Given the description of an element on the screen output the (x, y) to click on. 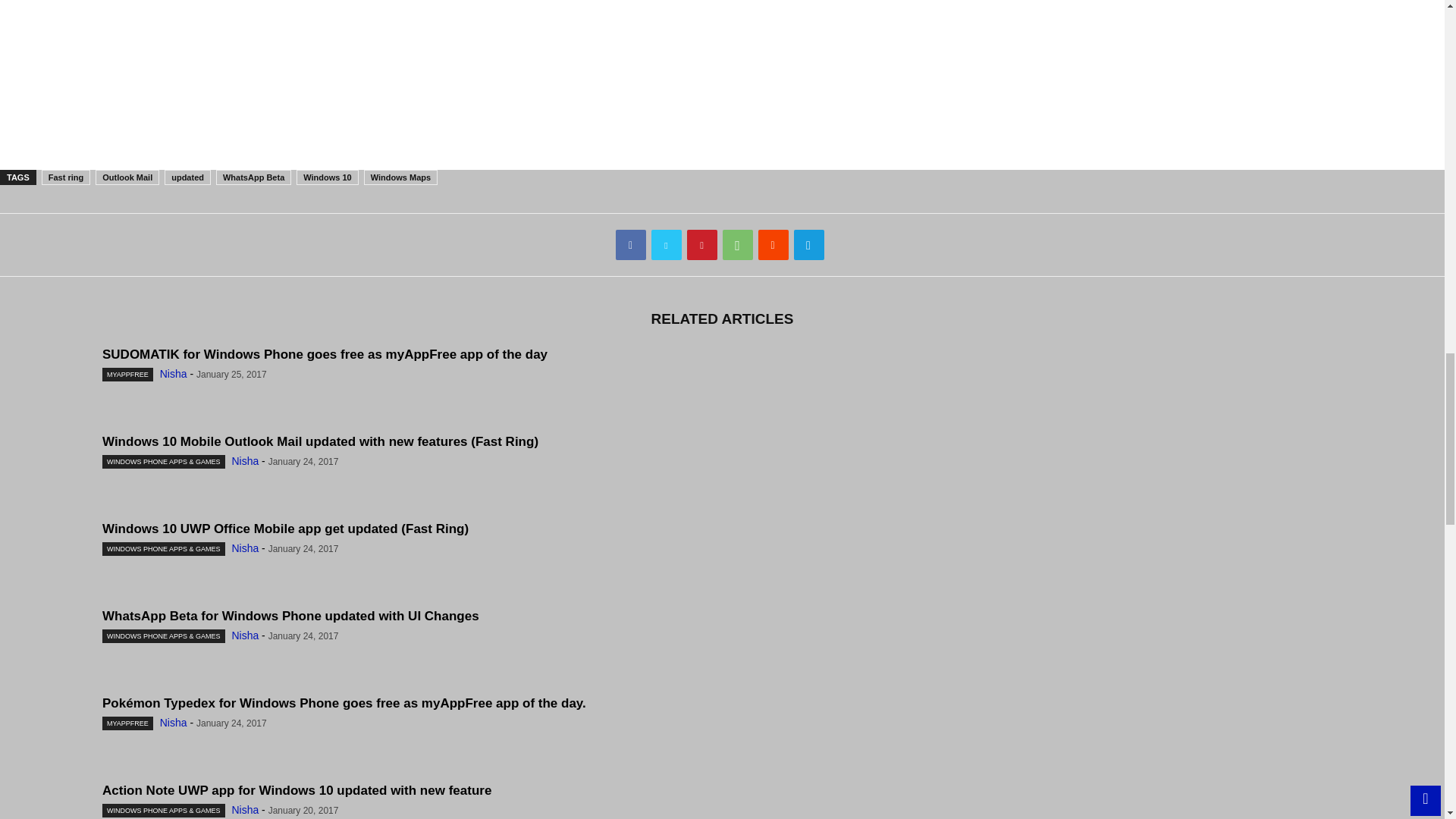
Pinterest (702, 245)
Windows 10 (327, 177)
WhatsApp Beta (253, 177)
MYAPPFREE (126, 374)
Windows Maps (401, 177)
ReddIt (773, 245)
WhatsApp Beta for Windows Phone updated with UI Changes (290, 616)
Twitter (665, 245)
Nisha (245, 460)
Facebook (630, 245)
Outlook Mail (127, 177)
Nisha (173, 373)
Nisha (245, 635)
Telegram (808, 245)
